Given the description of an element on the screen output the (x, y) to click on. 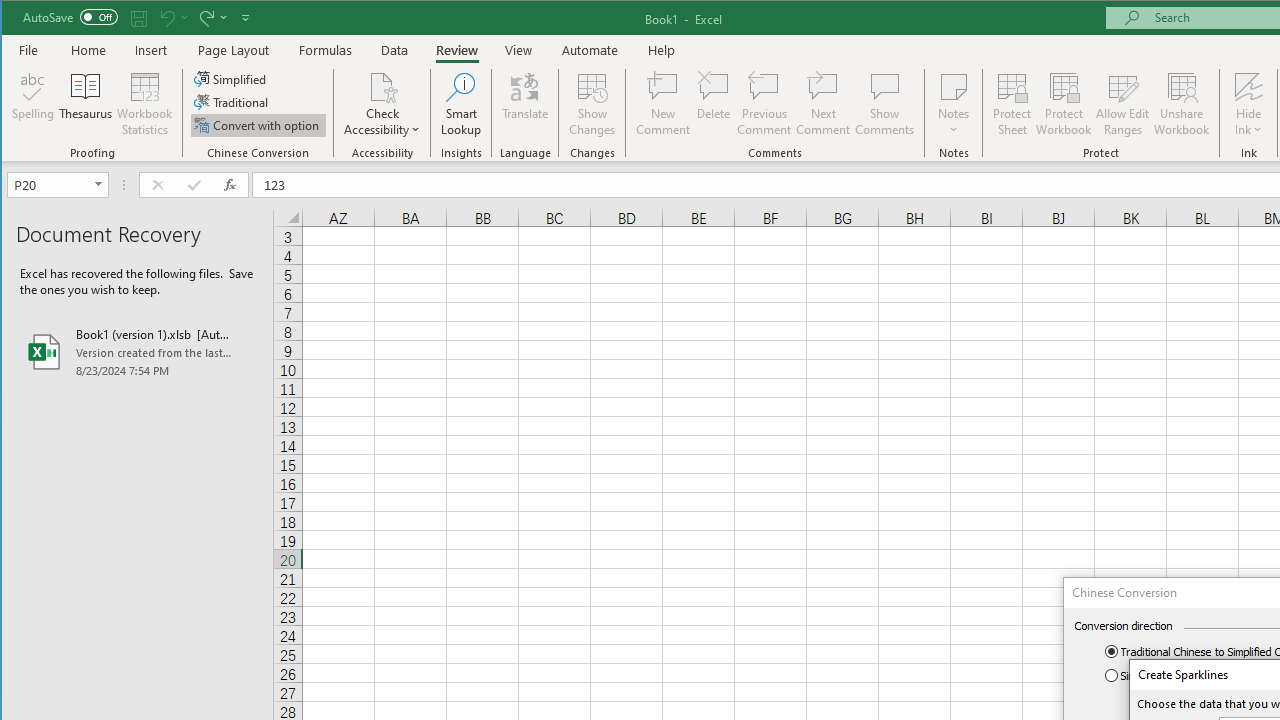
Thesaurus... (86, 104)
Protect Sheet... (1012, 104)
